Given the description of an element on the screen output the (x, y) to click on. 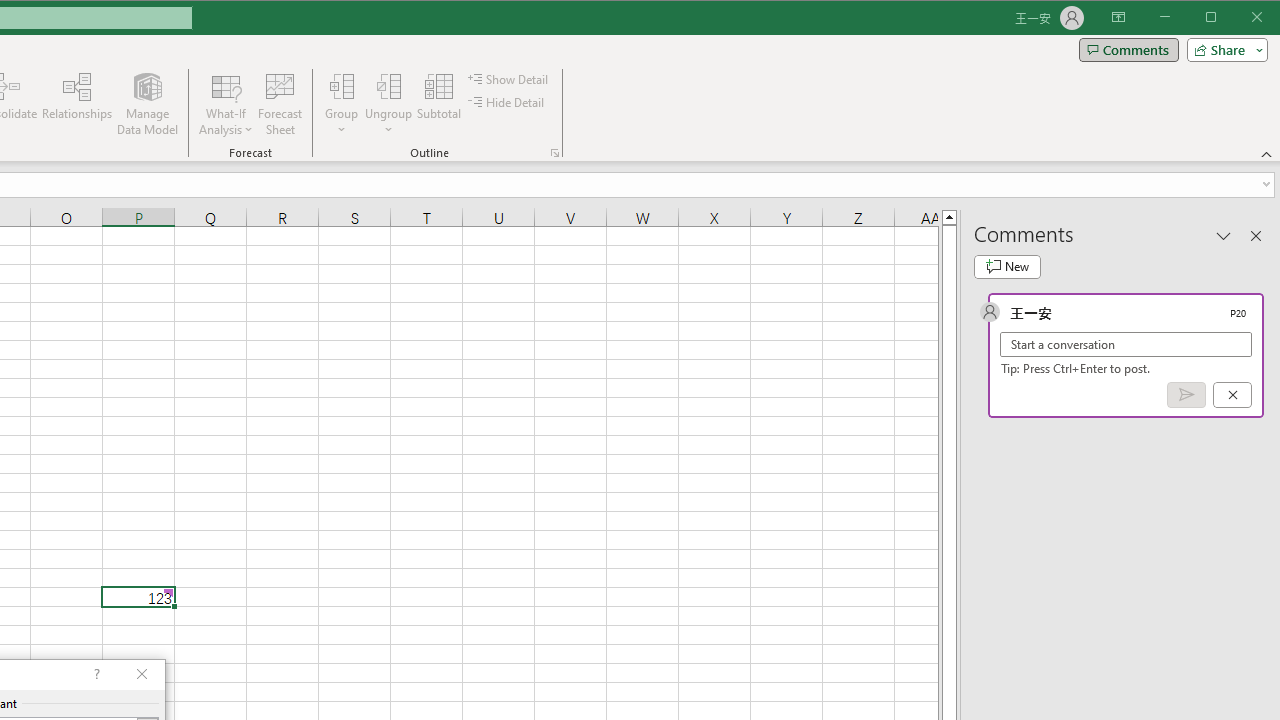
Start a conversation (1126, 344)
Post comment (Ctrl + Enter) (1186, 395)
Hide Detail (506, 101)
What-If Analysis (226, 104)
Manage Data Model (147, 104)
Relationships (77, 104)
Group and Outline Settings (554, 152)
